Given the description of an element on the screen output the (x, y) to click on. 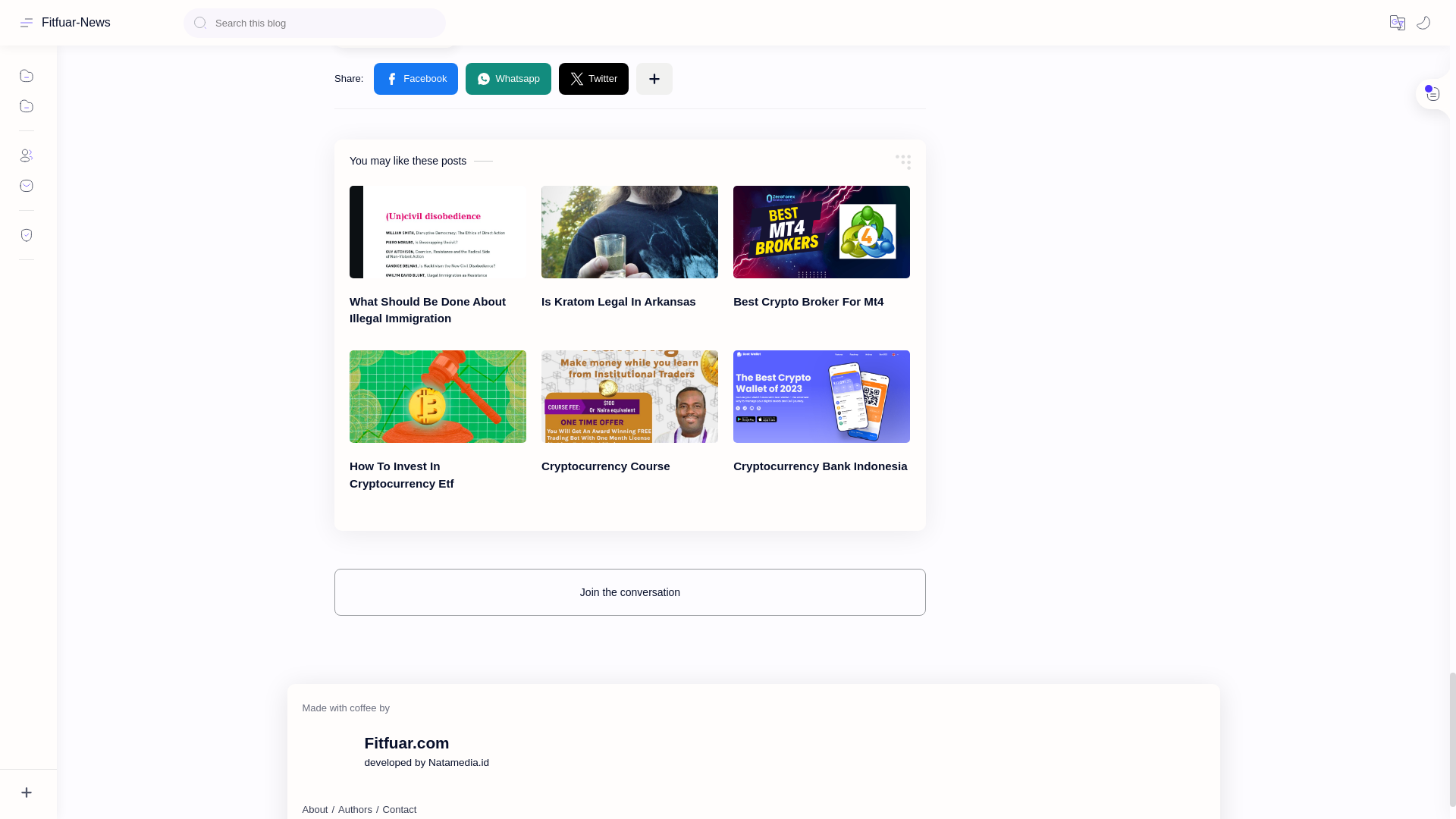
Cryptocurrency Bank Indonesia (821, 396)
Cryptocurrency Course (629, 396)
Best Crypto Broker For Mt4 (821, 231)
Is Kratom Legal In Arkansas (629, 231)
What Should Be Done About Illegal Immigration (437, 231)
How To Invest In Cryptocurrency Etf (437, 396)
